Given the description of an element on the screen output the (x, y) to click on. 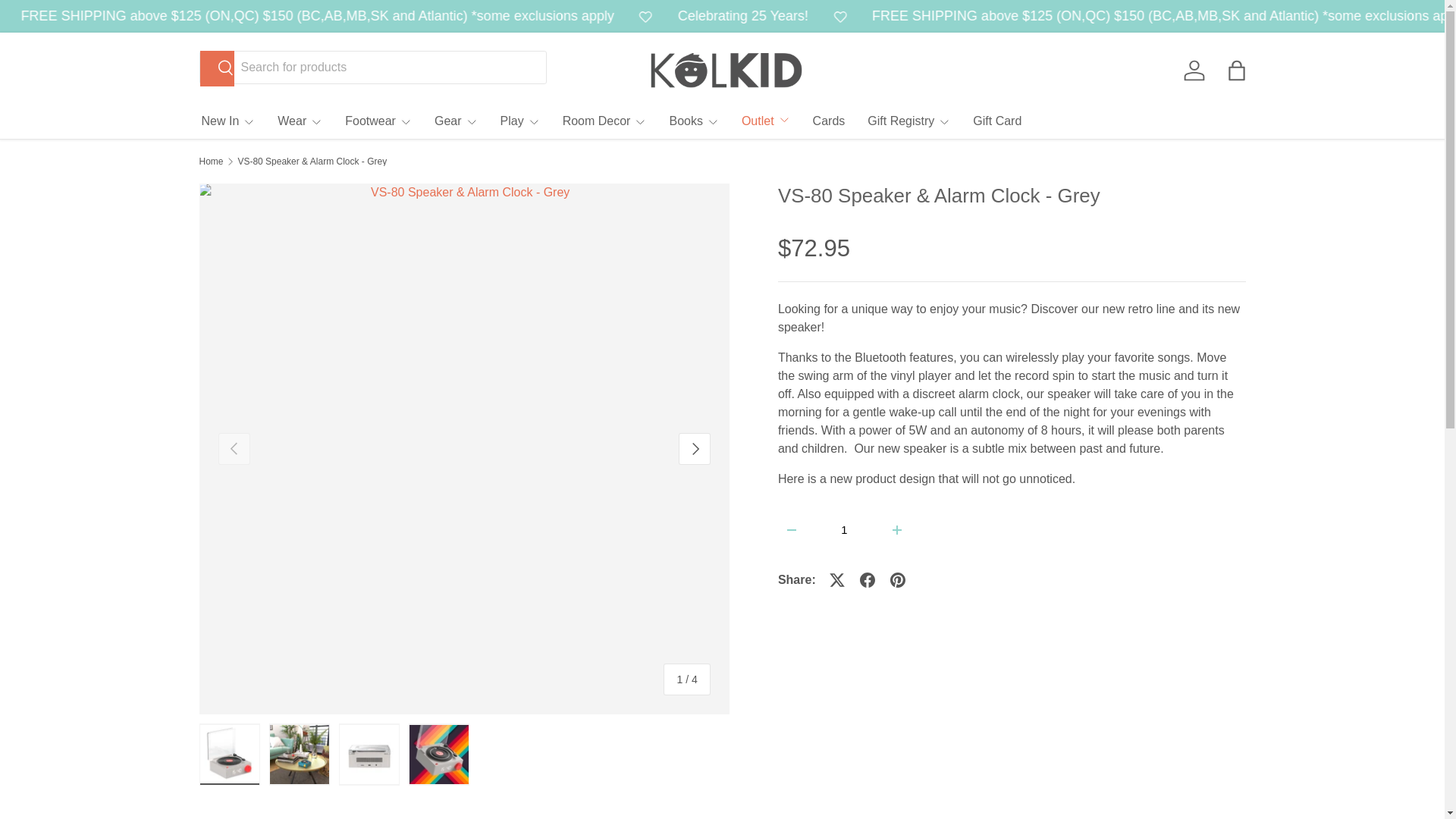
Share on Facebook (866, 580)
Log in (1192, 70)
Search (217, 68)
Celebrating 25 Years! (36, 15)
New In (229, 120)
Bag (1236, 70)
Celebrating 25 Years! (839, 15)
1 (844, 529)
Skip to content (64, 21)
Wear (299, 120)
